Given the description of an element on the screen output the (x, y) to click on. 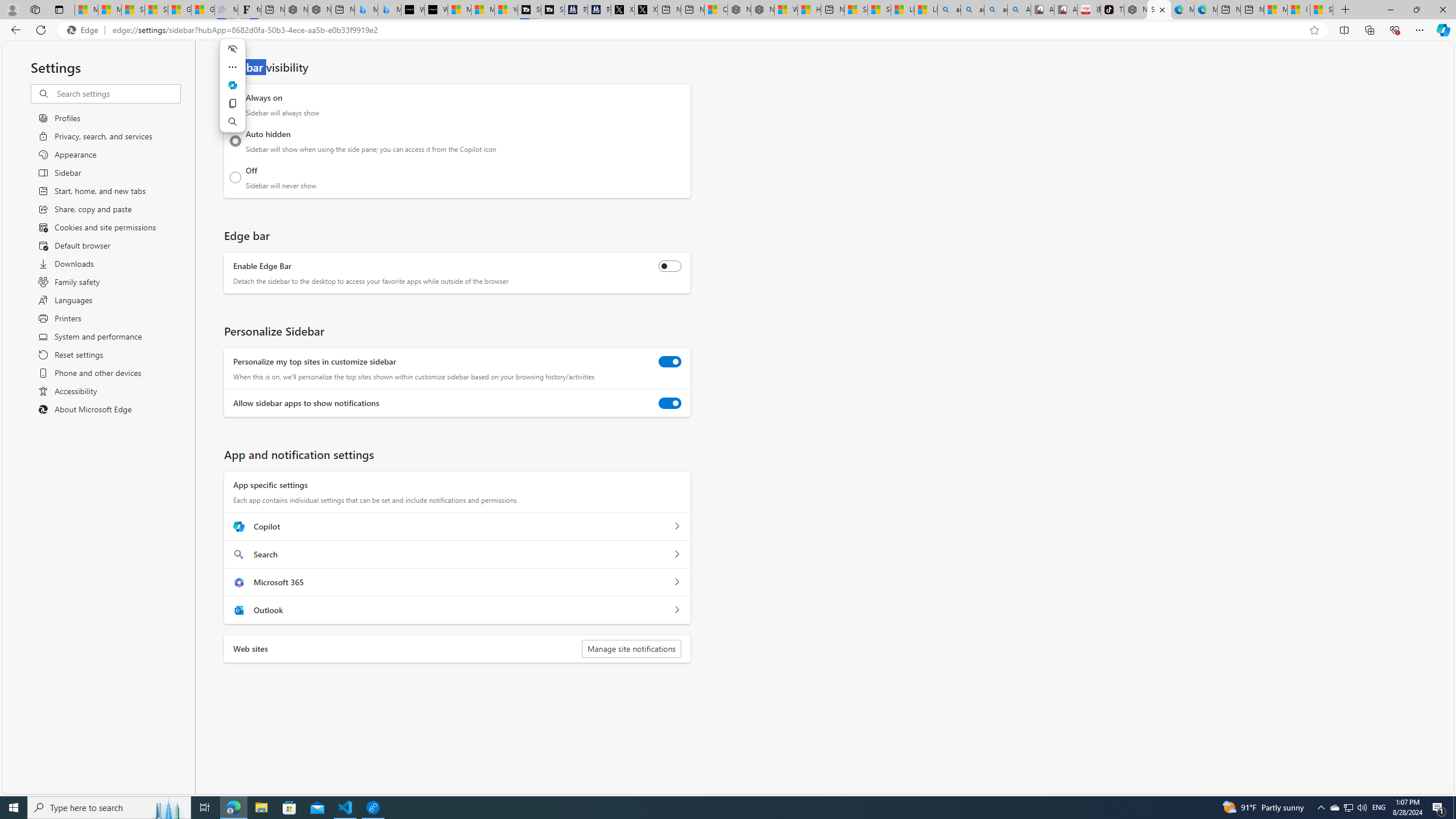
Allow sidebar apps to show notifications (669, 402)
Gilma and Hector both pose tropical trouble for Hawaii (202, 9)
Microsoft Bing Travel - Shangri-La Hotel Bangkok (389, 9)
Copy (231, 103)
Always on Sidebar will always show (235, 104)
Manage site notifications (630, 648)
